Given the description of an element on the screen output the (x, y) to click on. 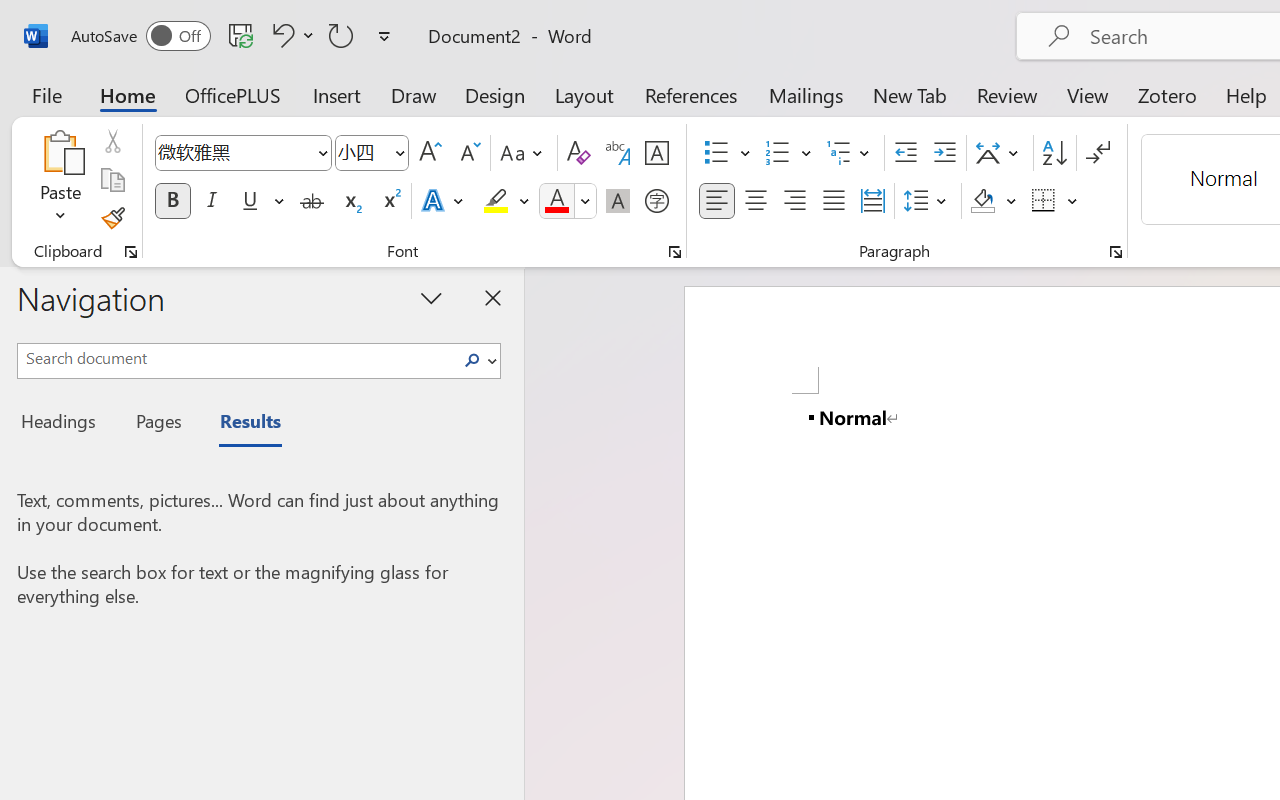
Insert (337, 94)
View (1087, 94)
Bullets (716, 153)
More Options (1073, 201)
Text Effects and Typography (444, 201)
Decrease Indent (906, 153)
Draw (413, 94)
Pages (156, 424)
Paragraph... (1115, 252)
